Given the description of an element on the screen output the (x, y) to click on. 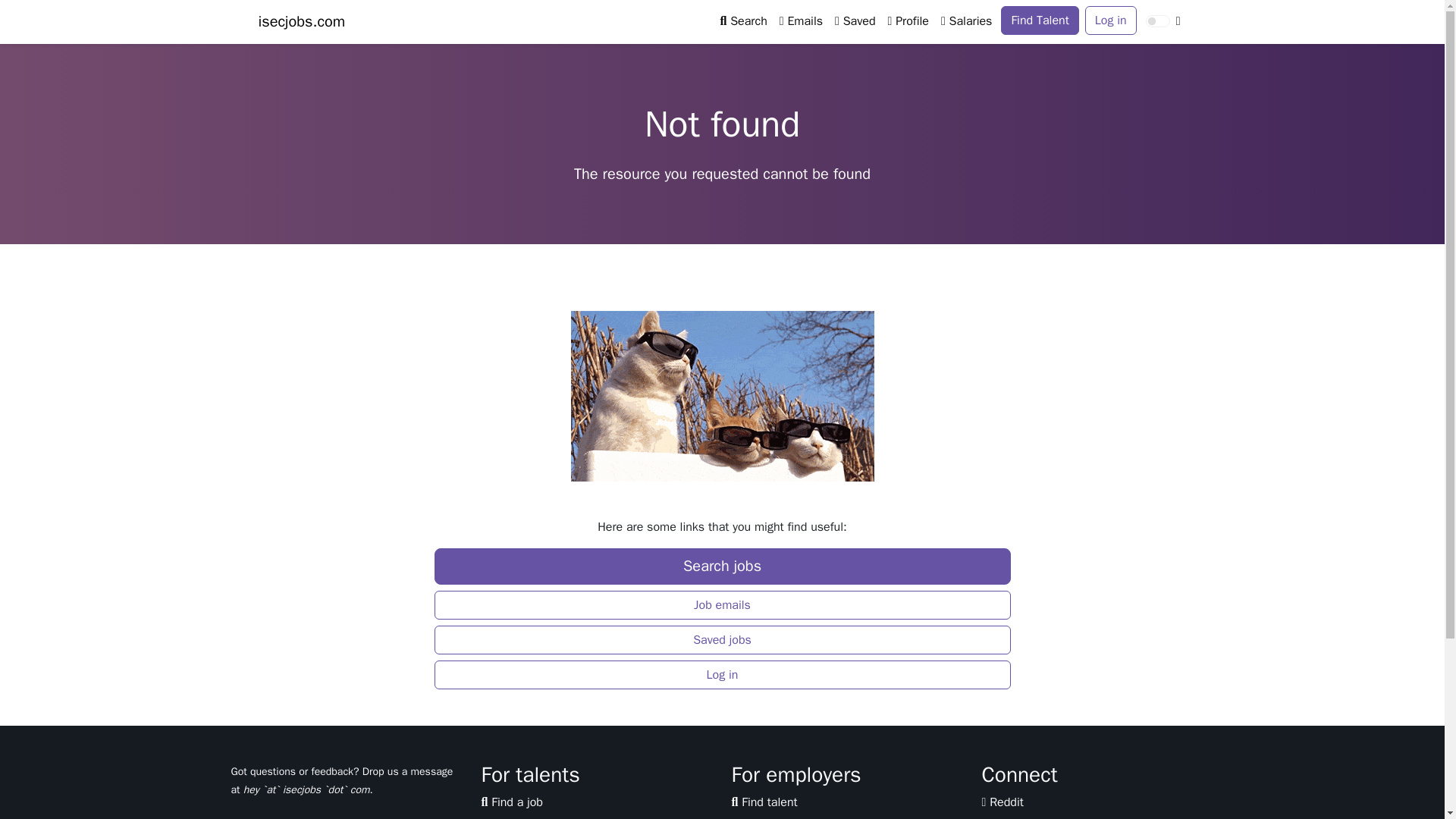
Job emails (512, 817)
Saved jobs (721, 639)
Find a job (510, 801)
Salaries (966, 20)
Search (743, 20)
Profile (908, 20)
Saved (854, 20)
Log in (1110, 20)
Find Talent (1039, 20)
Emails (800, 20)
